Given the description of an element on the screen output the (x, y) to click on. 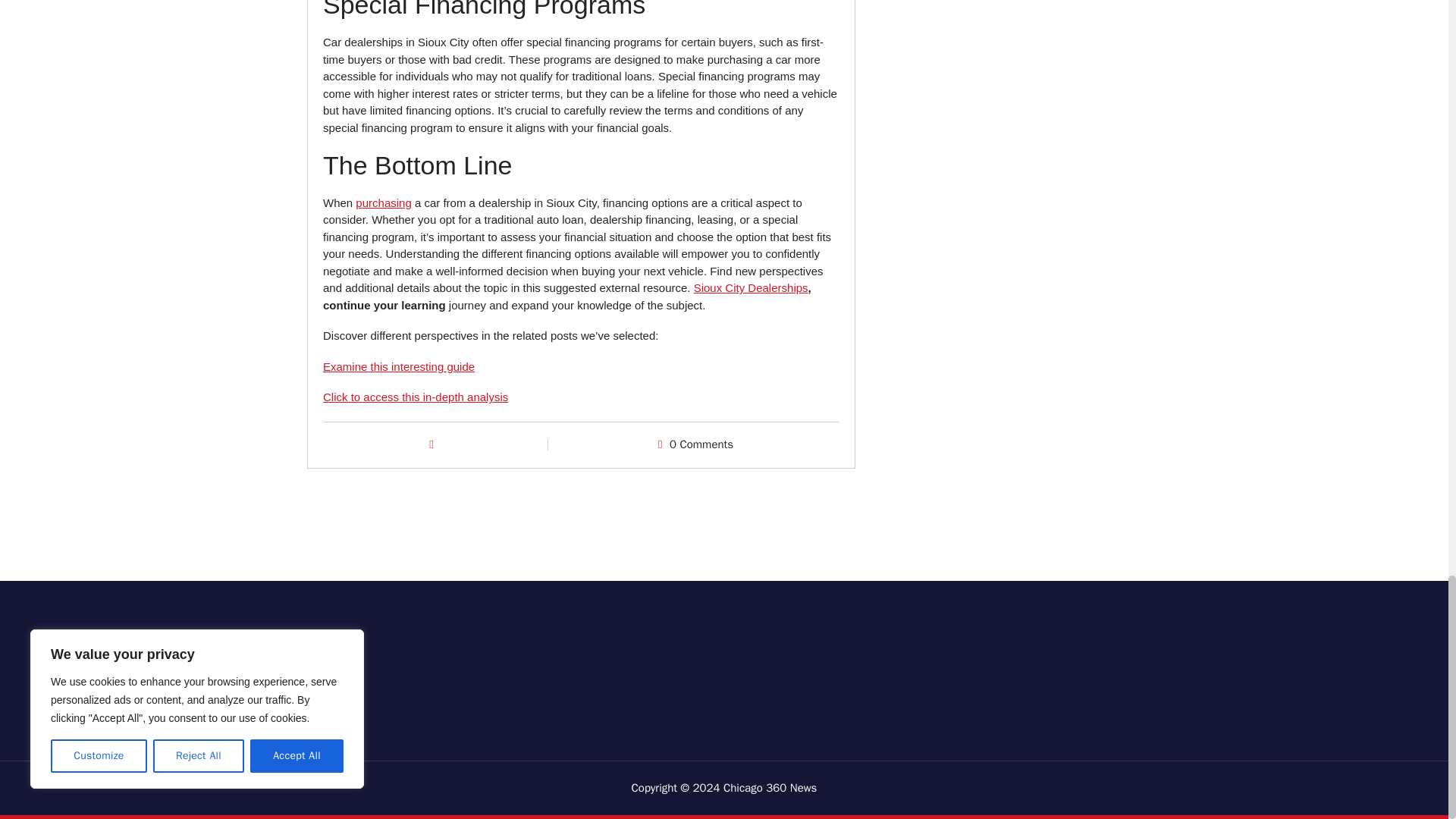
Sioux City Dealerships (751, 287)
Click to access this in-depth analysis (415, 396)
0 Comments (701, 444)
purchasing (382, 202)
Examine this interesting guide (398, 366)
